Given the description of an element on the screen output the (x, y) to click on. 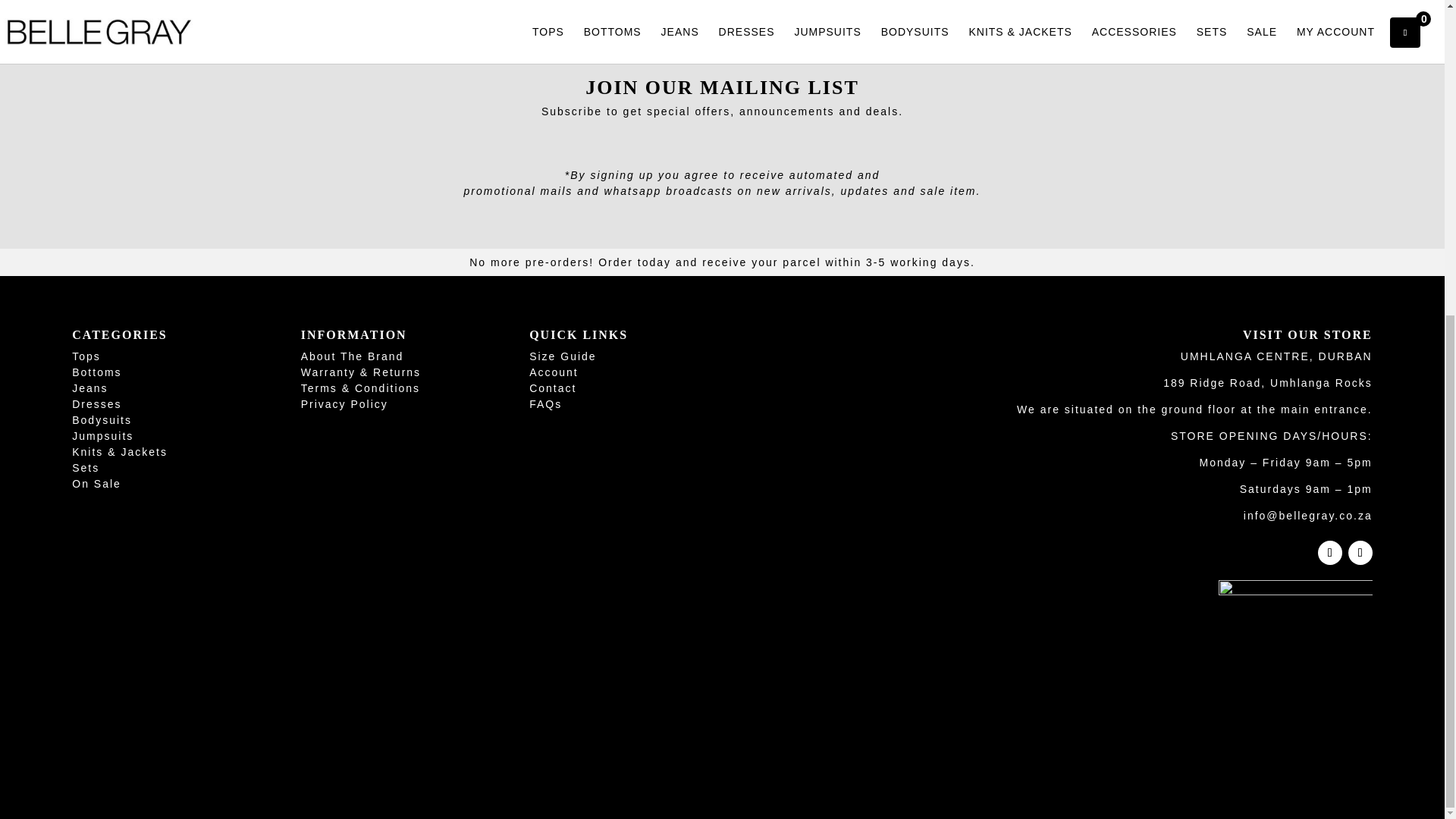
Jumpsuits (102, 435)
Sets (85, 467)
Sizing Guide (562, 356)
On Sale (95, 483)
Bodysuits (101, 419)
About Belle Gray Clothing (352, 356)
Size Guide (562, 356)
Dresses (95, 404)
Jeans (89, 387)
Ladies Dresses (95, 404)
